Given the description of an element on the screen output the (x, y) to click on. 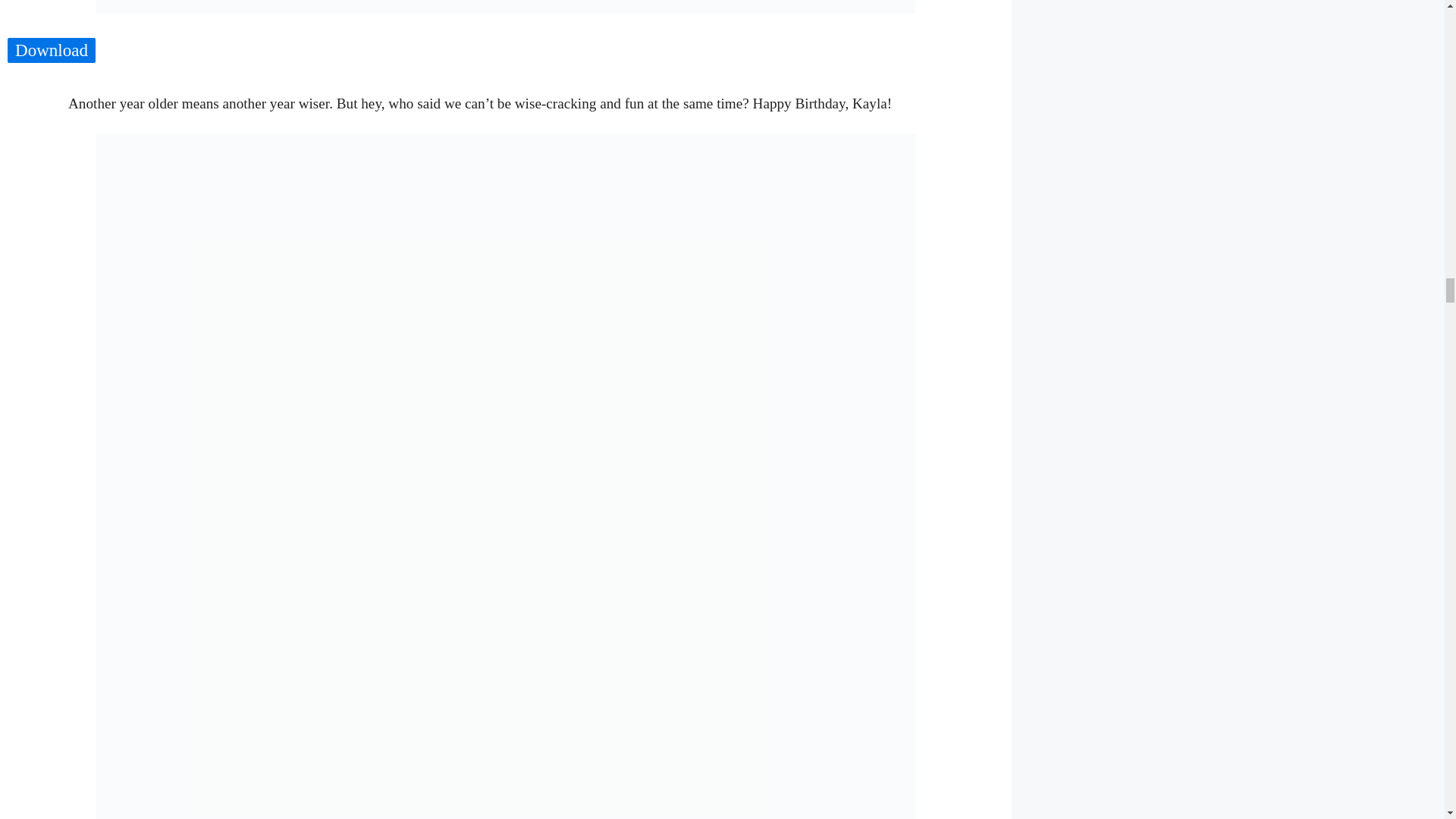
Download (51, 50)
Download (51, 50)
